Given the description of an element on the screen output the (x, y) to click on. 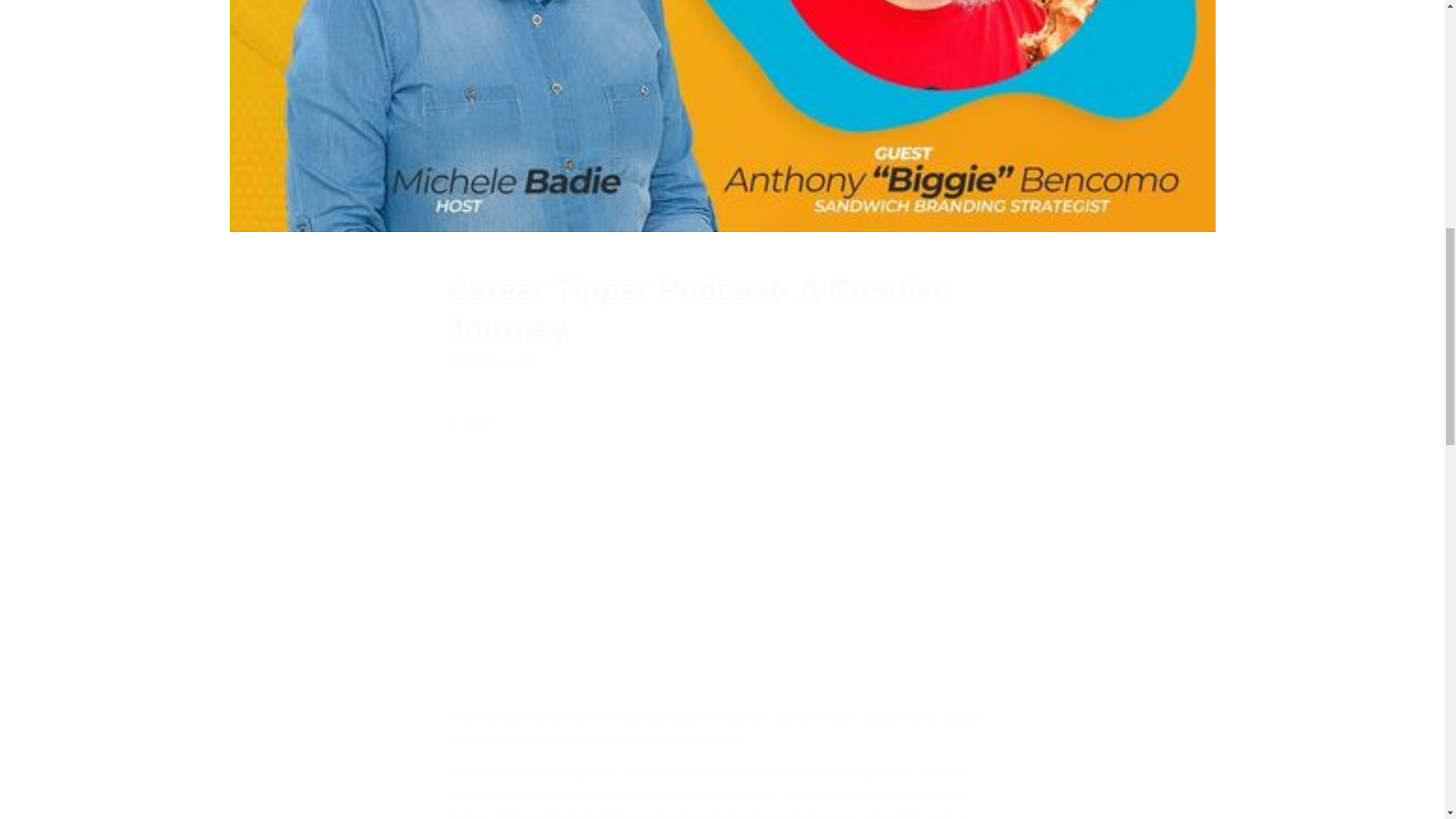
Share (721, 421)
